Given the description of an element on the screen output the (x, y) to click on. 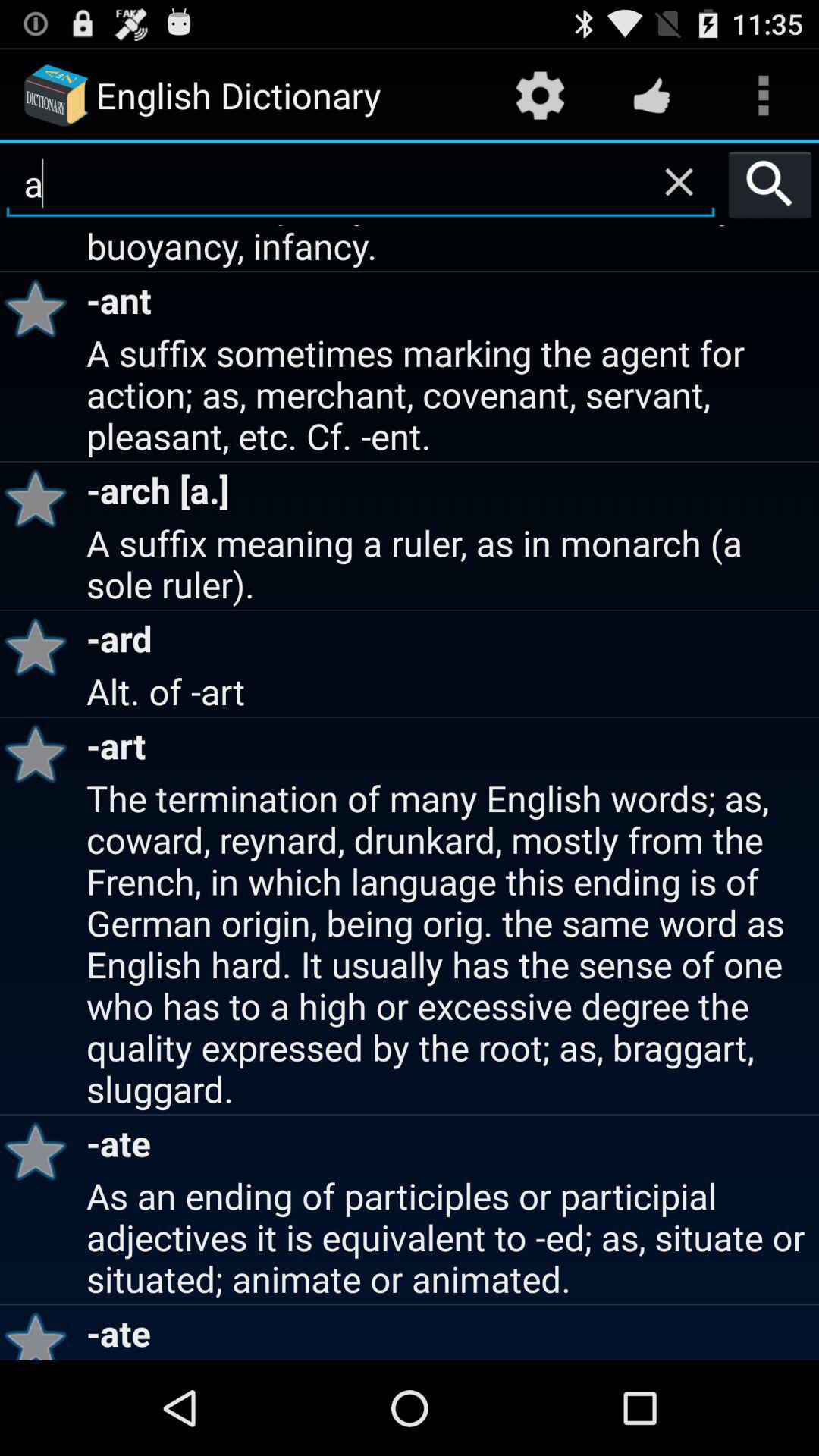
choose the icon to the right of the a (770, 184)
